Given the description of an element on the screen output the (x, y) to click on. 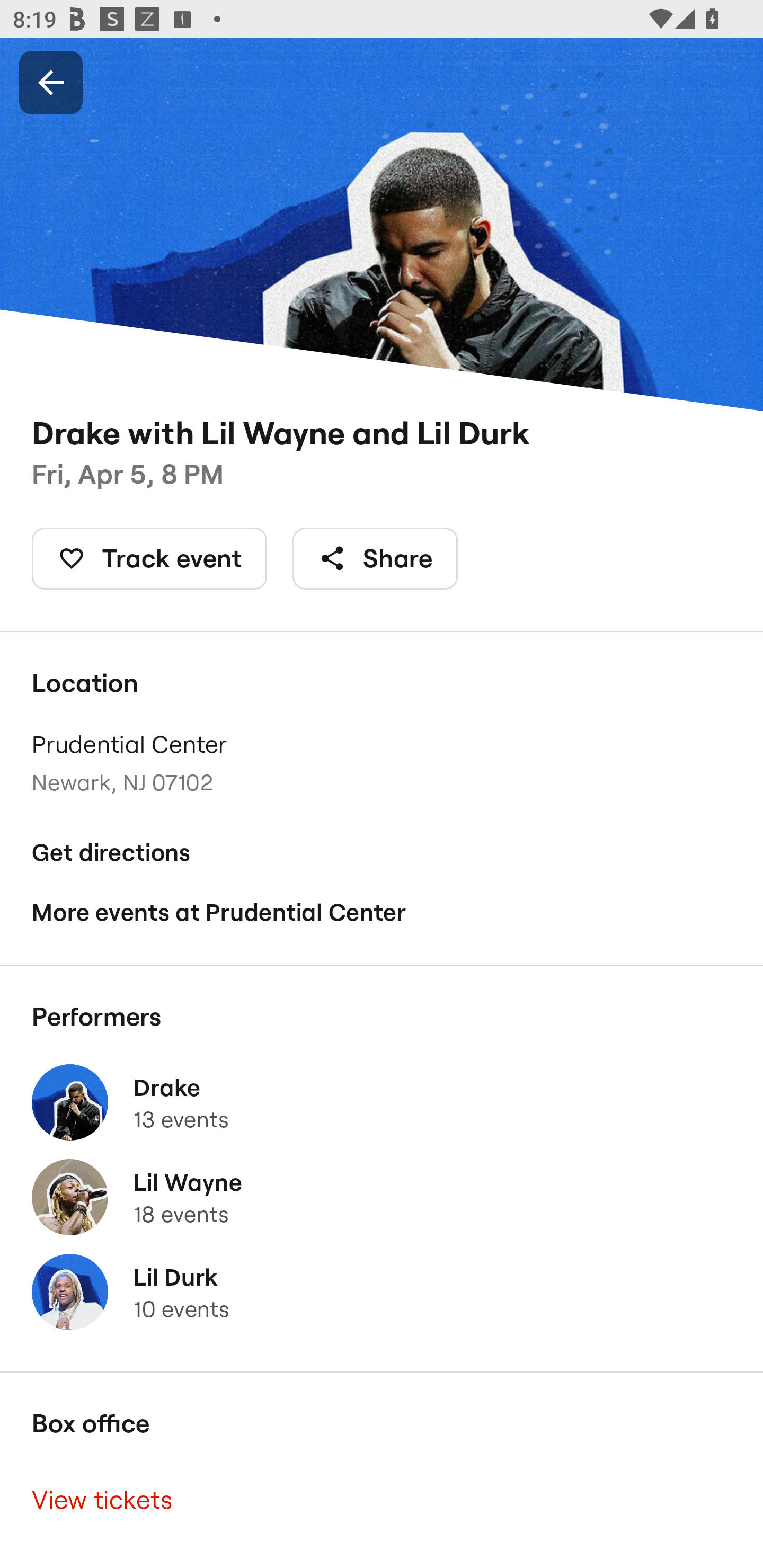
Back (50, 81)
Track event (149, 557)
Share (374, 557)
Get directions (381, 852)
More events at Prudential Center (381, 912)
Drake 13 events (381, 1102)
Lil Wayne 18 events (381, 1196)
Lil Durk 10 events (381, 1291)
View tickets (381, 1499)
